Given the description of an element on the screen output the (x, y) to click on. 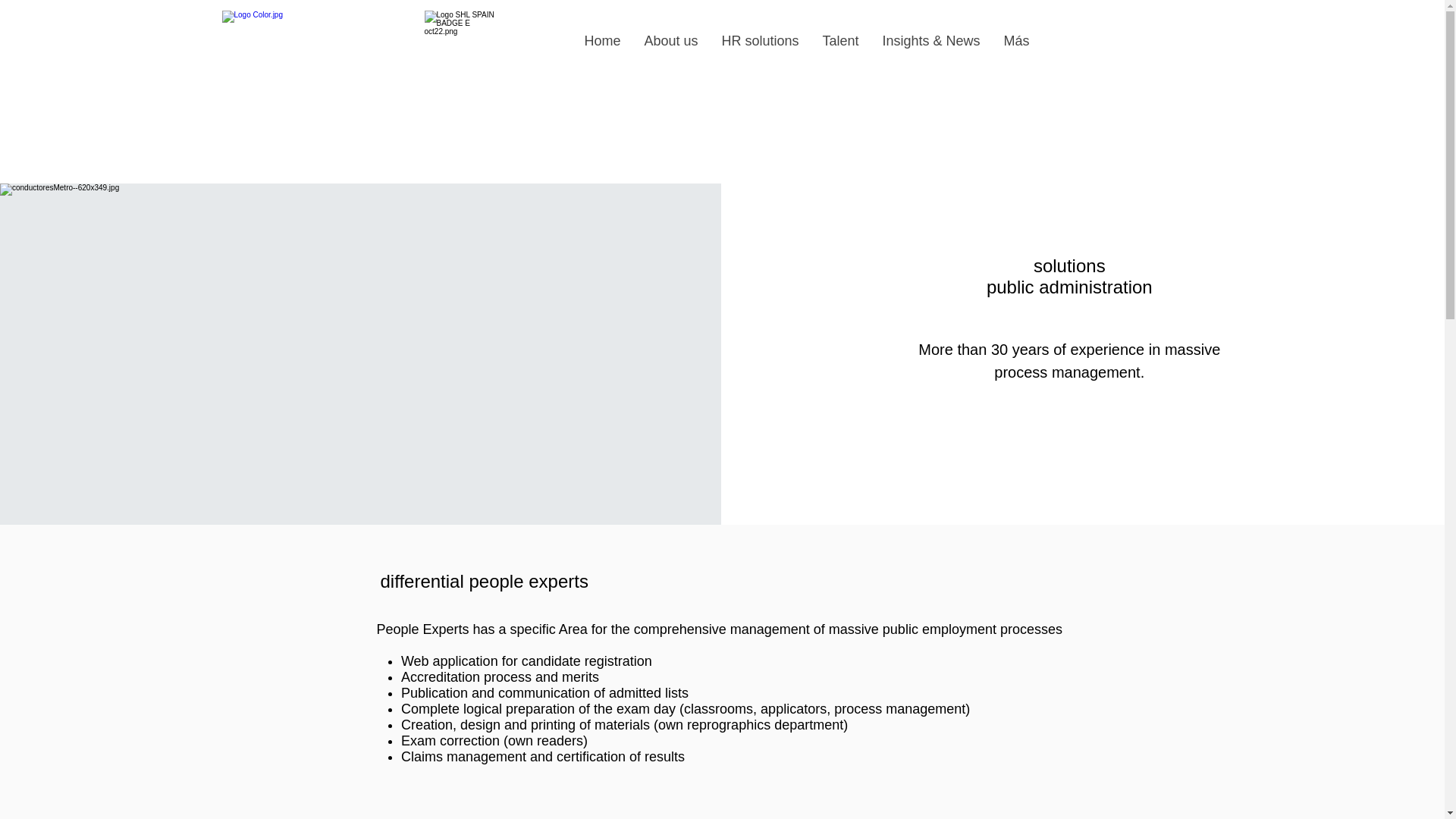
About us (670, 41)
HR solutions (760, 41)
Home (602, 41)
Talent (839, 41)
